Given the description of an element on the screen output the (x, y) to click on. 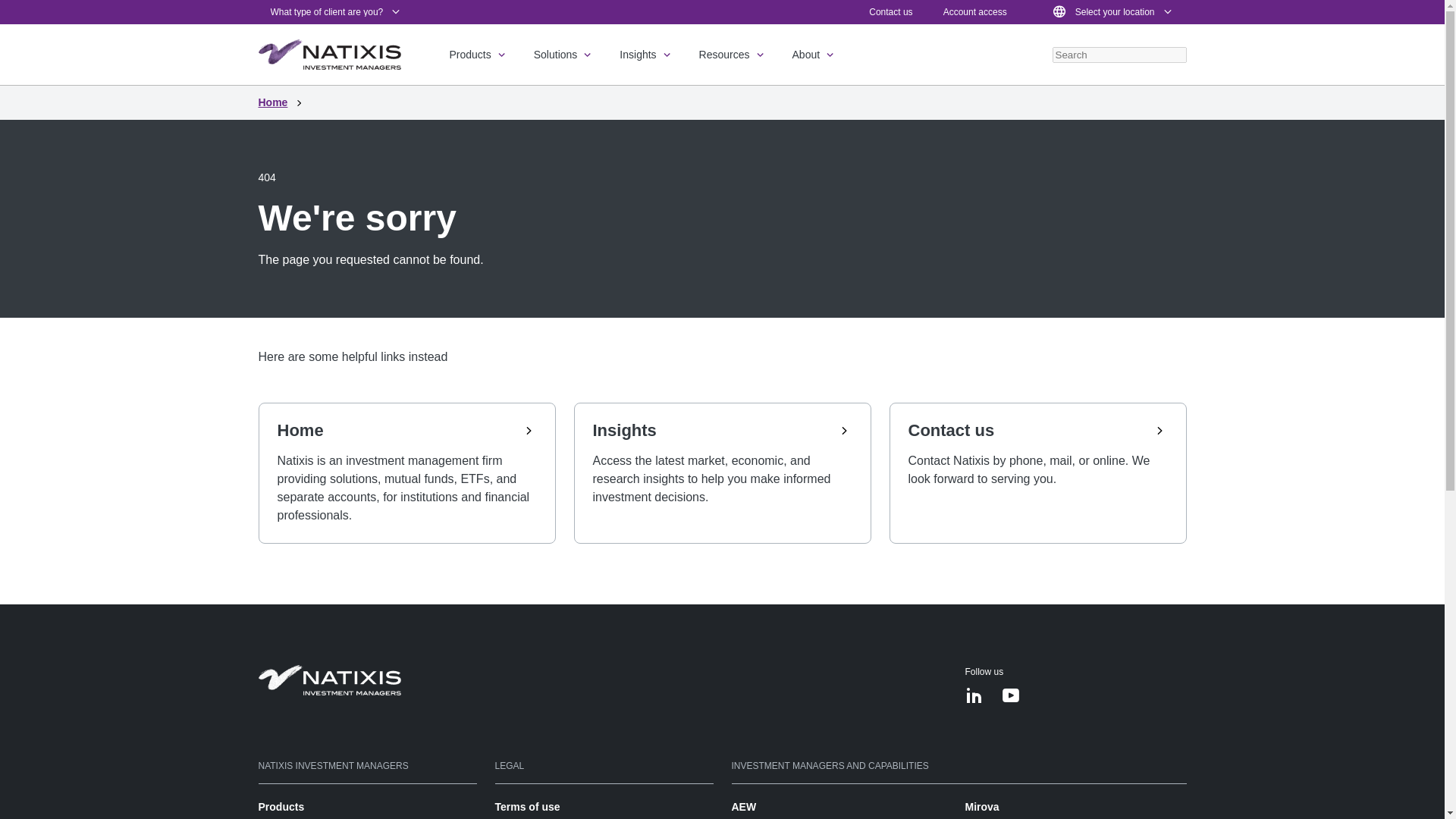
Contact us (890, 11)
Account access (975, 11)
youtube (1010, 697)
Resources (733, 54)
Solutions (564, 54)
What type of client are you? (335, 12)
About (815, 54)
linkedin (972, 697)
Products (478, 54)
Select your location (1111, 12)
Insights (647, 54)
